Given the description of an element on the screen output the (x, y) to click on. 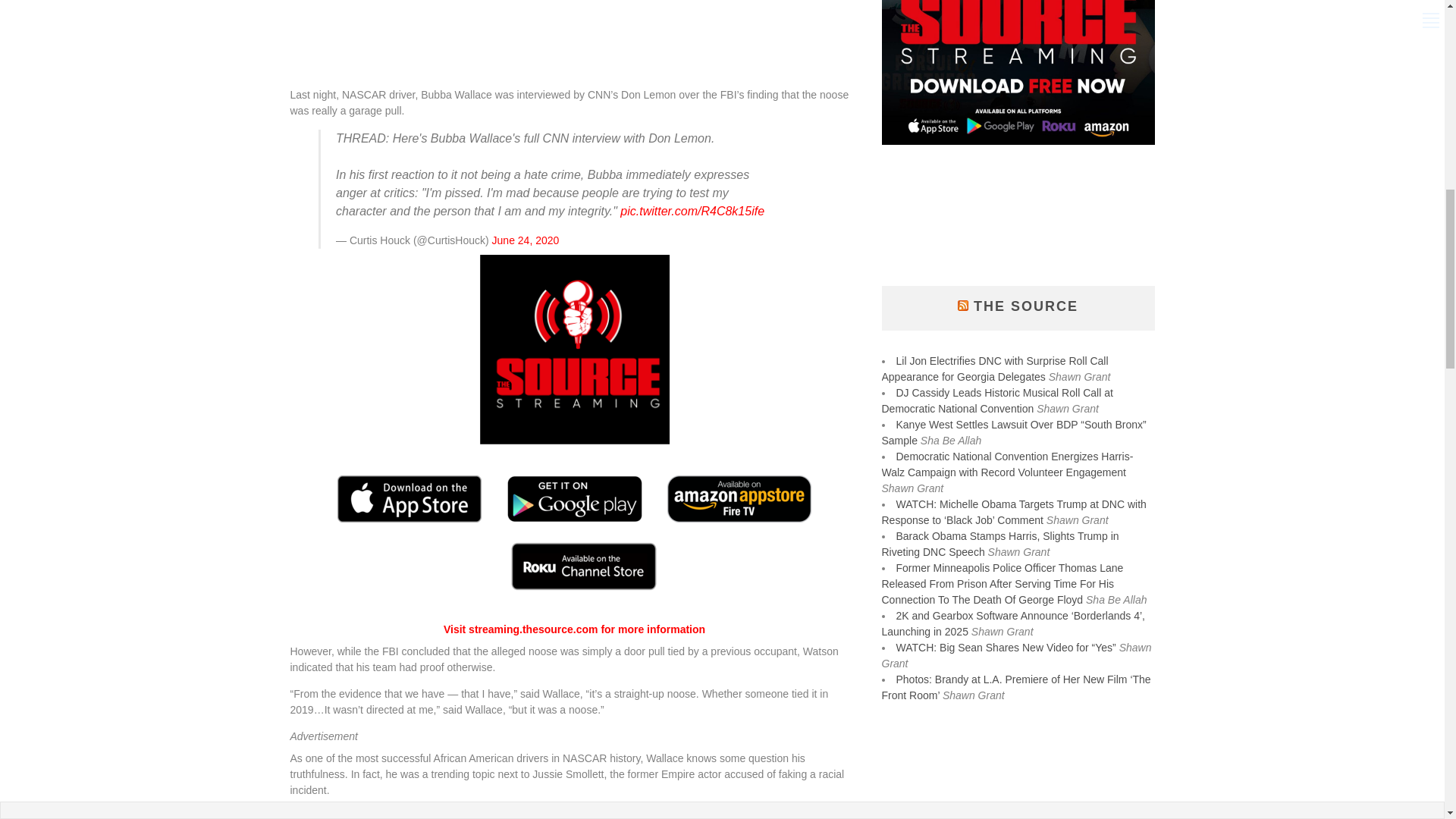
June 24, 2020 (525, 240)
Vuukle Sharebar Widget (574, 65)
Visit streaming.thesource.com for more information (574, 629)
